Given the description of an element on the screen output the (x, y) to click on. 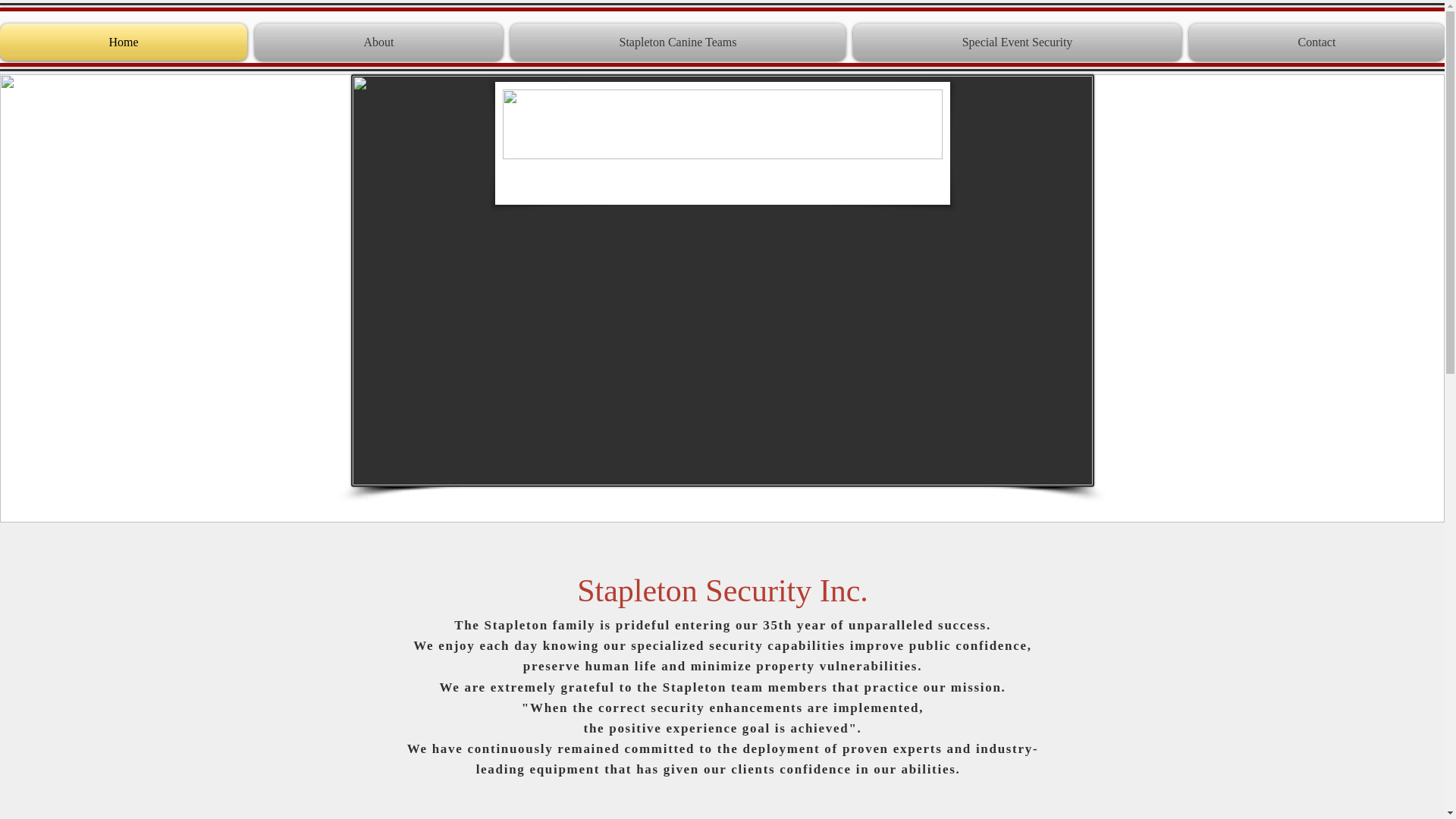
Special Event Security (1016, 41)
Home (125, 41)
